Given the description of an element on the screen output the (x, y) to click on. 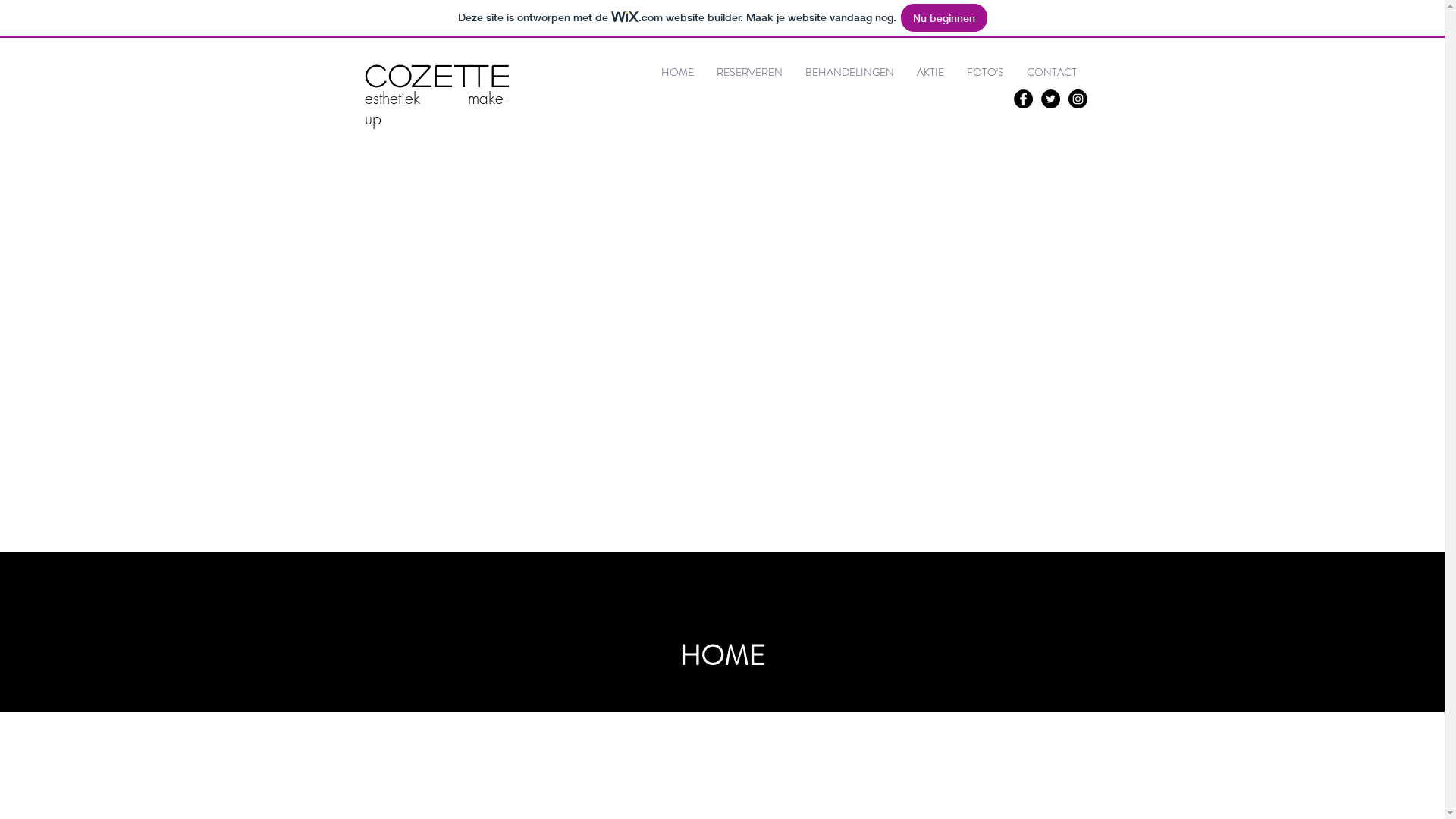
AKTIE Element type: text (930, 72)
FOTO'S Element type: text (985, 72)
RESERVEREN Element type: text (749, 72)
HOME Element type: text (676, 72)
COZETTE Element type: text (437, 75)
esthetiek         make-up Element type: text (434, 107)
BEHANDELINGEN Element type: text (848, 72)
CONTACT Element type: text (1050, 72)
